Given the description of an element on the screen output the (x, y) to click on. 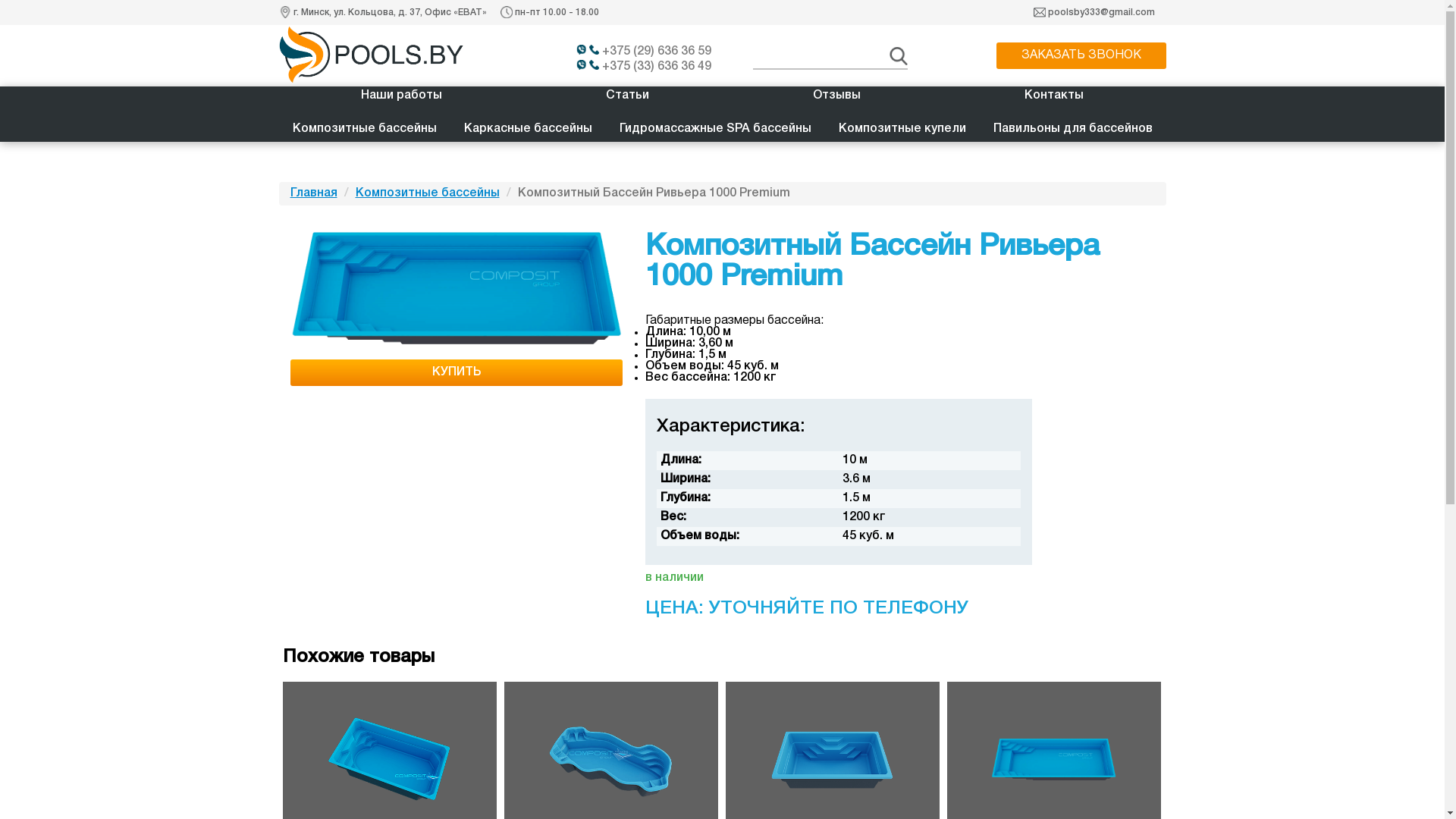
+375 (29) 636 36 59 Element type: text (649, 51)
poolsby333@gmail.com Element type: text (1101, 12)
+375 (33) 636 36 49 Element type: text (649, 66)
